Given the description of an element on the screen output the (x, y) to click on. 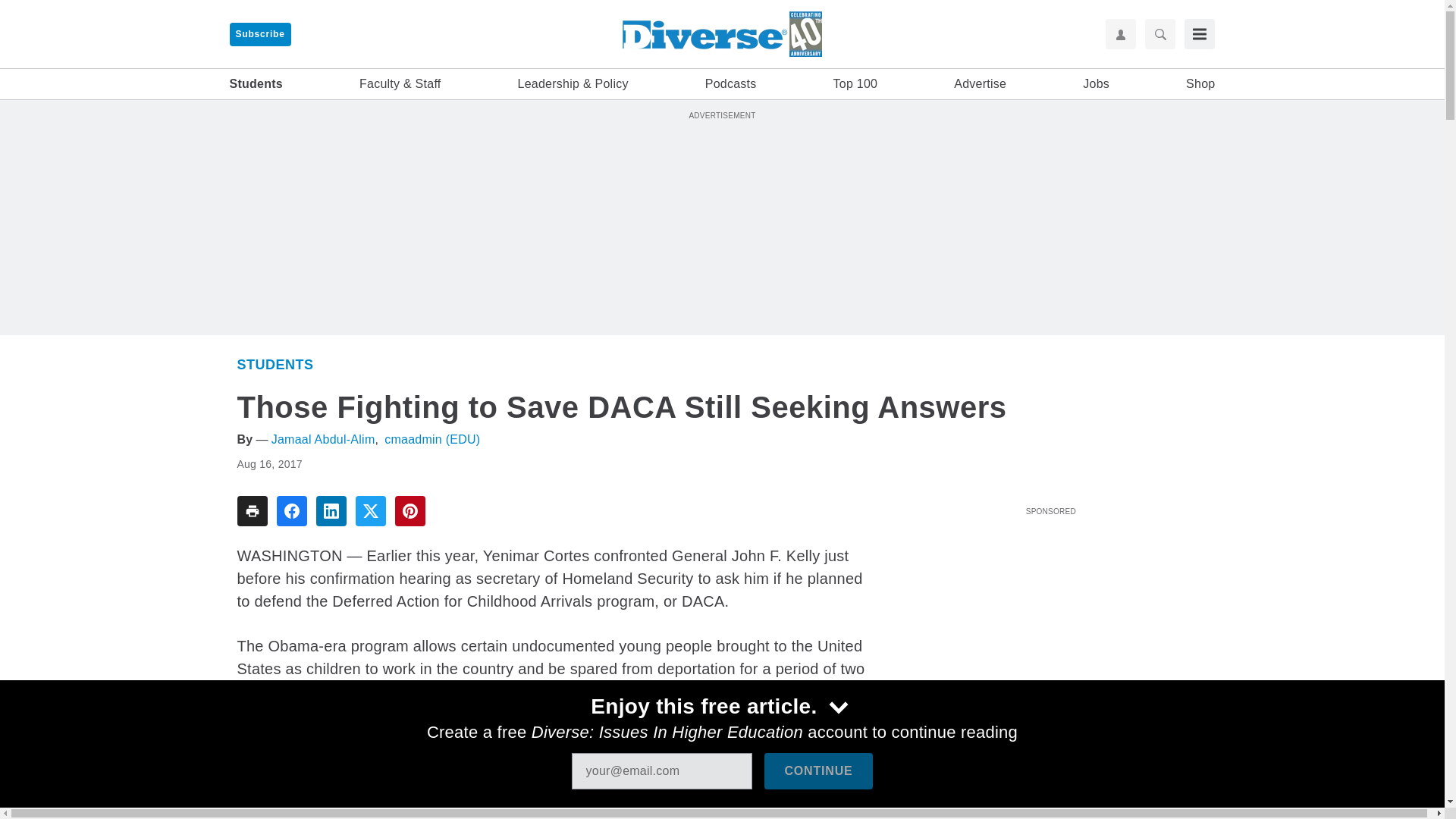
Share To pinterest (409, 511)
Students (274, 364)
Students (255, 84)
Shop (1200, 84)
Share To twitter (370, 511)
Top 100 (854, 84)
Share To linkedin (330, 511)
Advertise (979, 84)
Jobs (1096, 84)
Podcasts (730, 84)
Share To print (250, 511)
Share To facebook (290, 511)
Subscribe (258, 33)
Subscribe (258, 33)
